Given the description of an element on the screen output the (x, y) to click on. 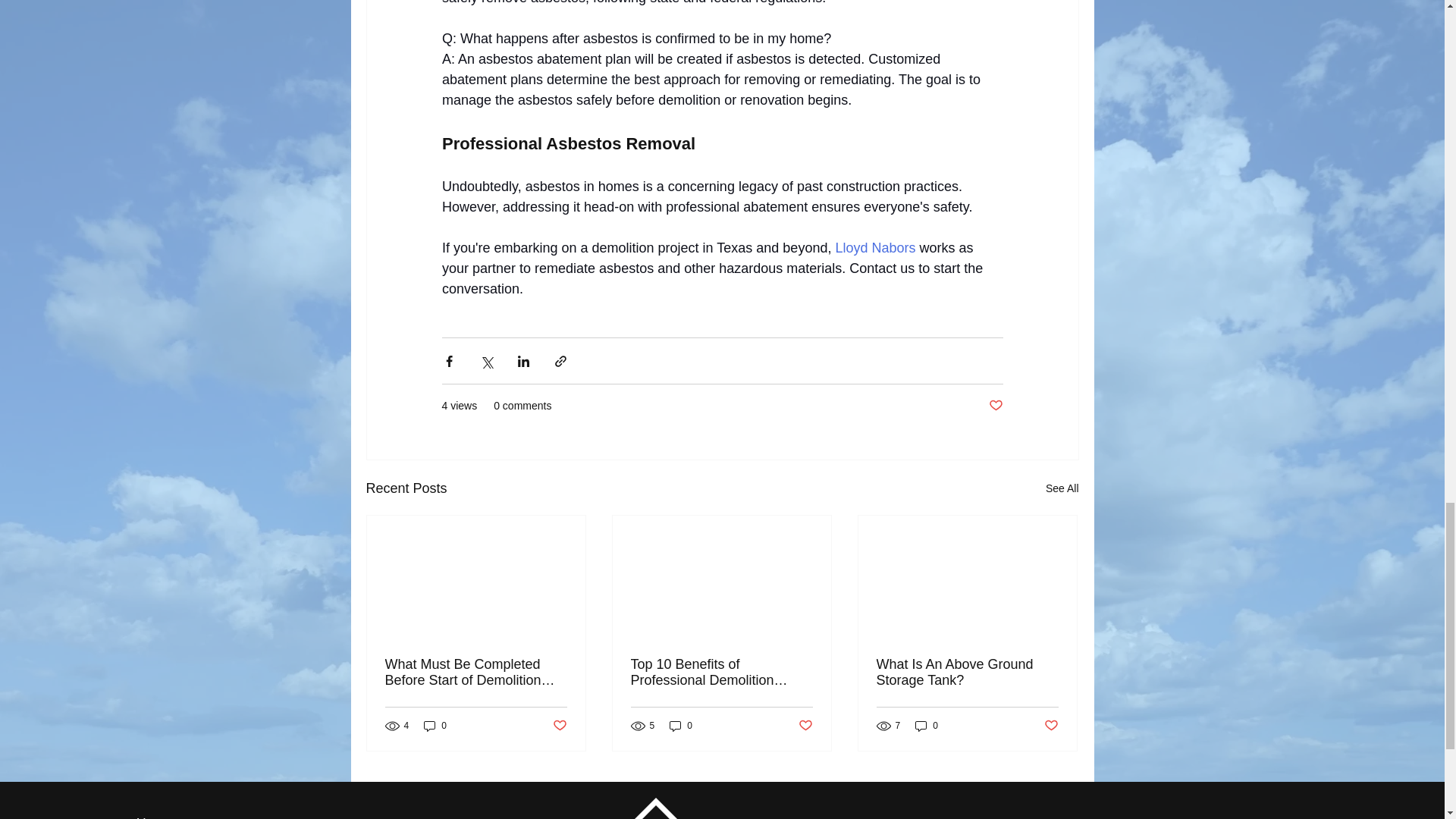
Post not marked as liked (995, 406)
Post not marked as liked (558, 725)
Lloyd Nabors (874, 247)
0 (435, 726)
See All (1061, 488)
